Given the description of an element on the screen output the (x, y) to click on. 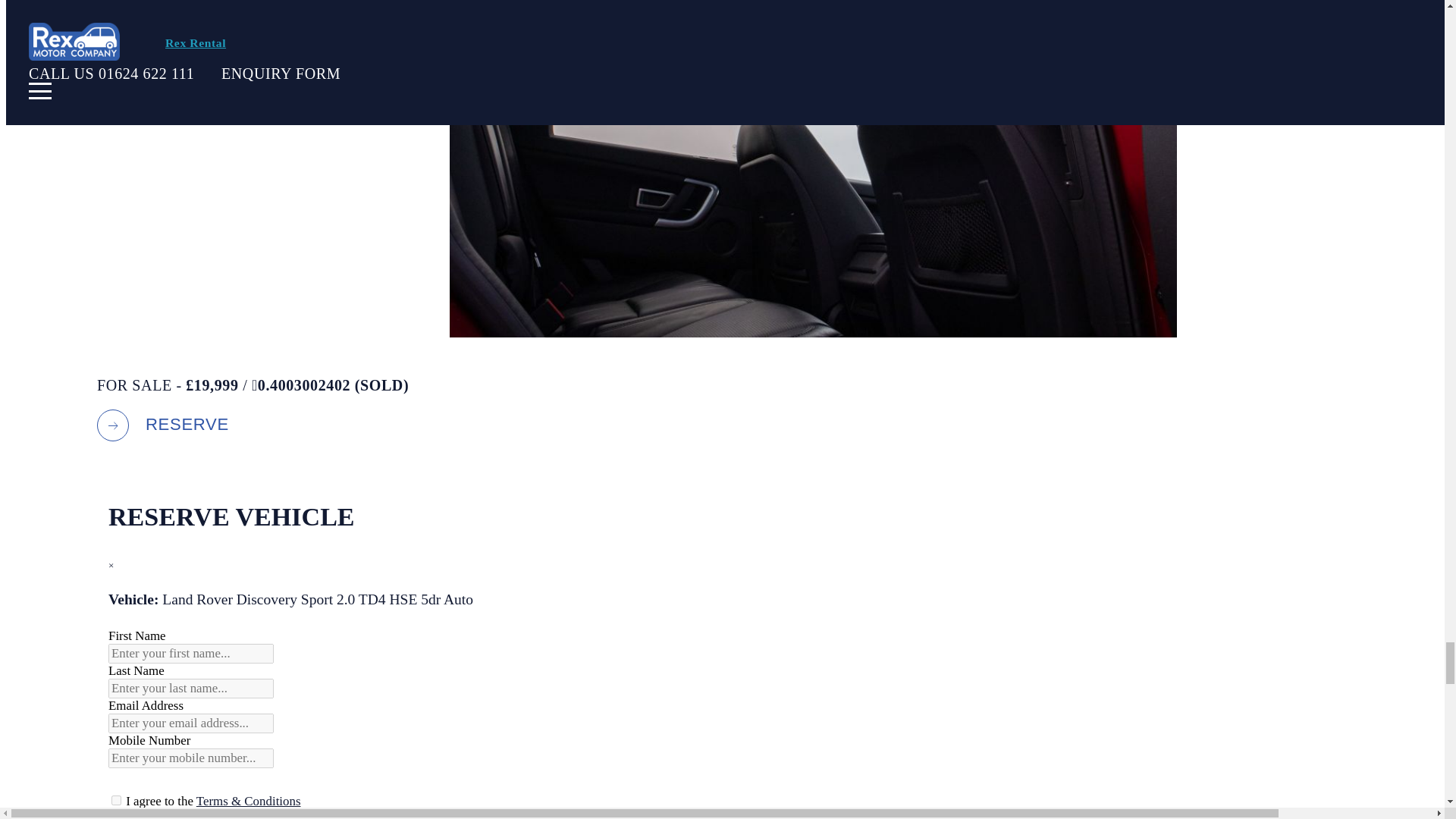
1 (116, 800)
